Given the description of an element on the screen output the (x, y) to click on. 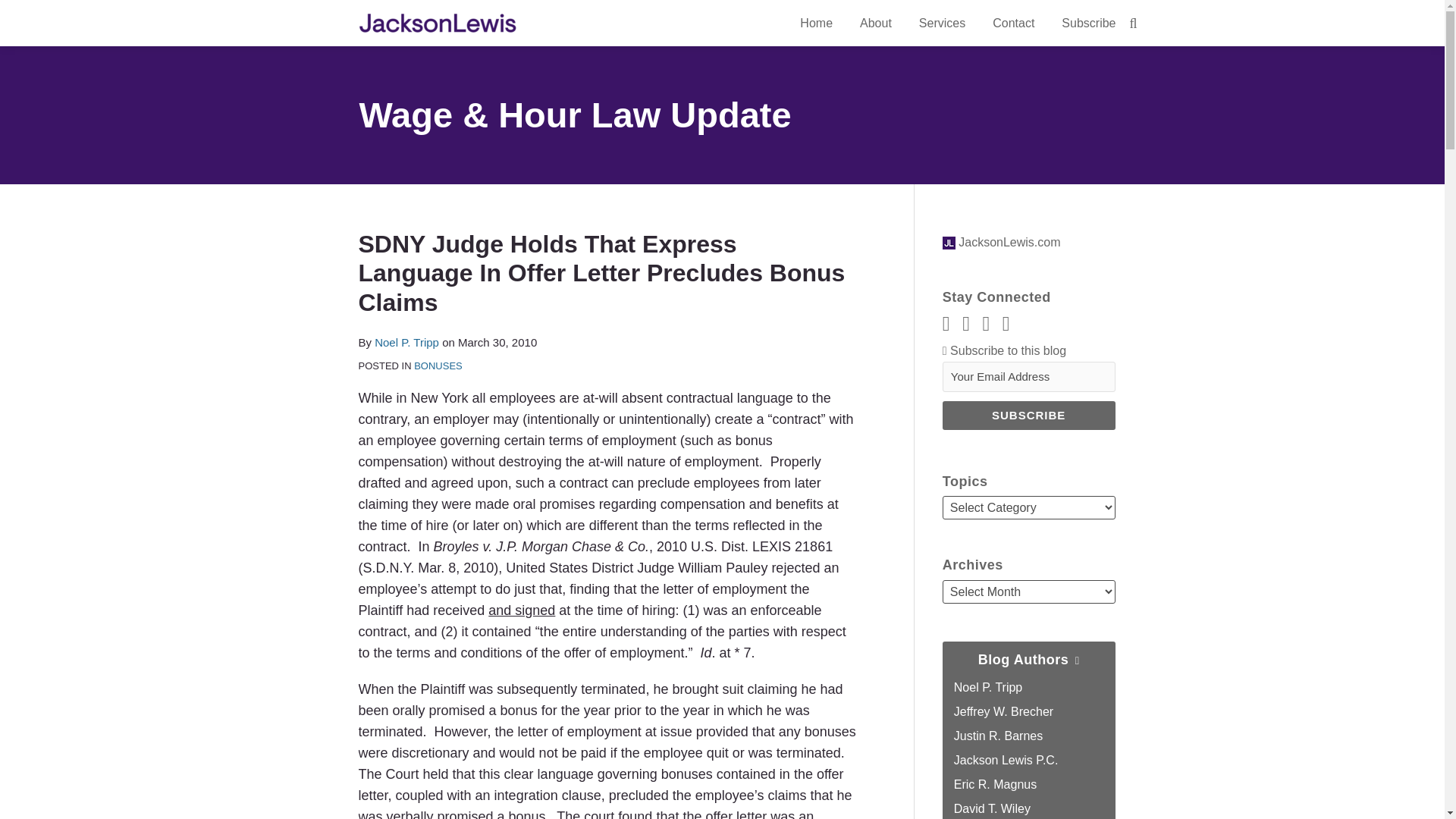
Noel P. Tripp (406, 341)
About (875, 23)
Subscribe (1028, 415)
Contact (1012, 23)
Subscribe (1088, 23)
JacksonLewis.com (1001, 241)
BONUSES (438, 365)
Services (941, 23)
Home (815, 23)
